Given the description of an element on the screen output the (x, y) to click on. 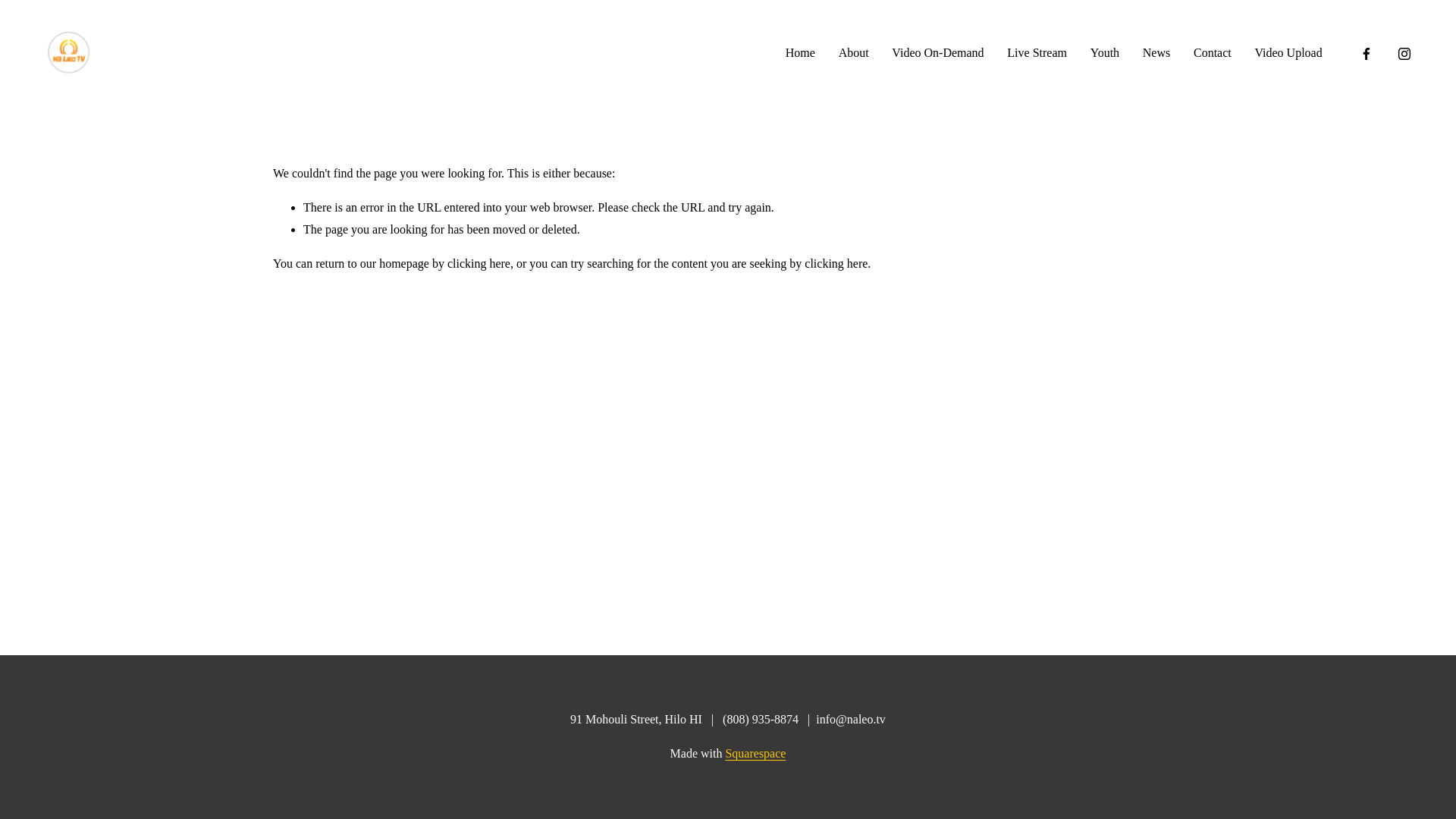
Video On-Demand (937, 53)
Live Stream (1037, 53)
News (1156, 53)
Home (800, 53)
Video Upload (1287, 53)
Contact (1212, 53)
About (853, 53)
Youth (1104, 53)
